Given the description of an element on the screen output the (x, y) to click on. 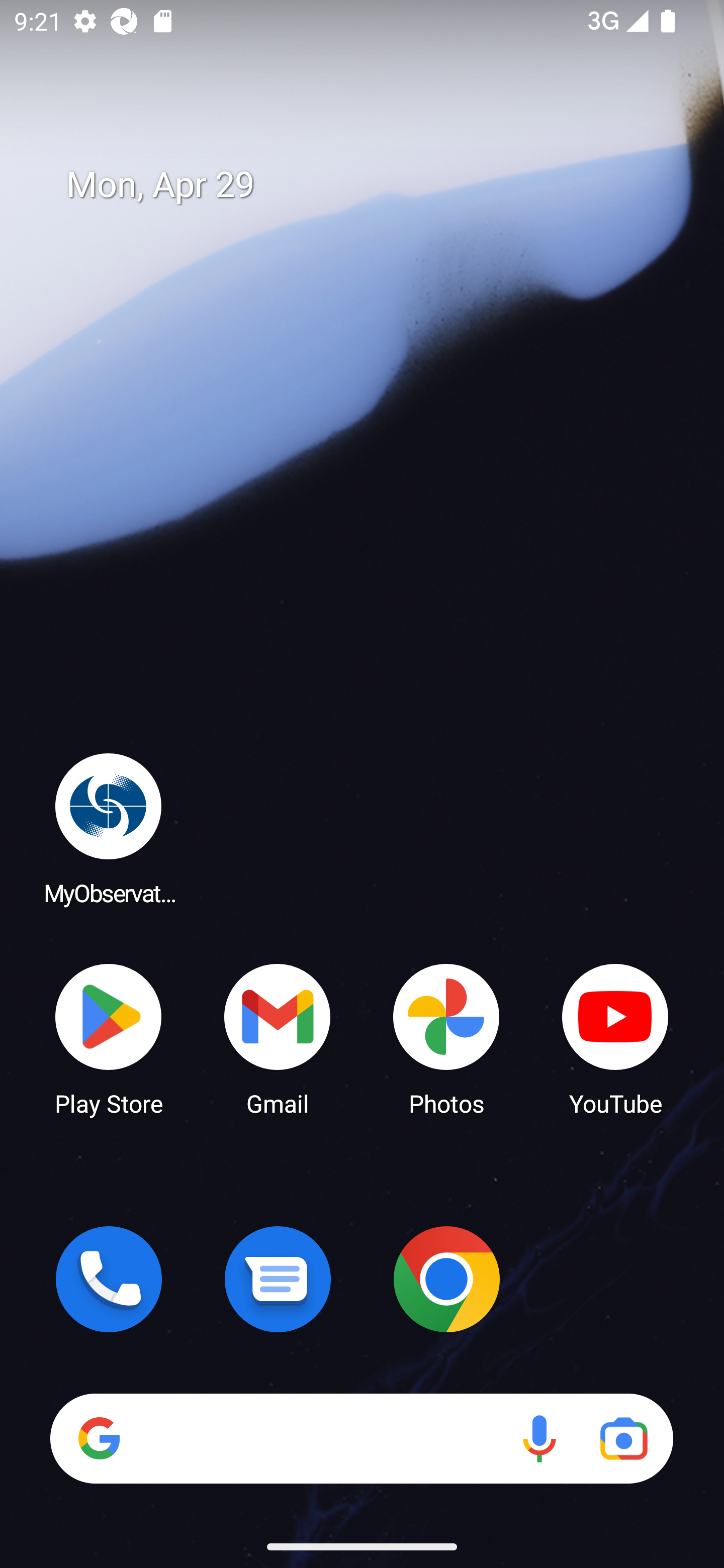
Mon, Apr 29 (375, 184)
MyObservatory (108, 828)
Play Store (108, 1038)
Gmail (277, 1038)
Photos (445, 1038)
YouTube (615, 1038)
Phone (108, 1279)
Messages (277, 1279)
Chrome (446, 1279)
Voice search (539, 1438)
Google Lens (623, 1438)
